Given the description of an element on the screen output the (x, y) to click on. 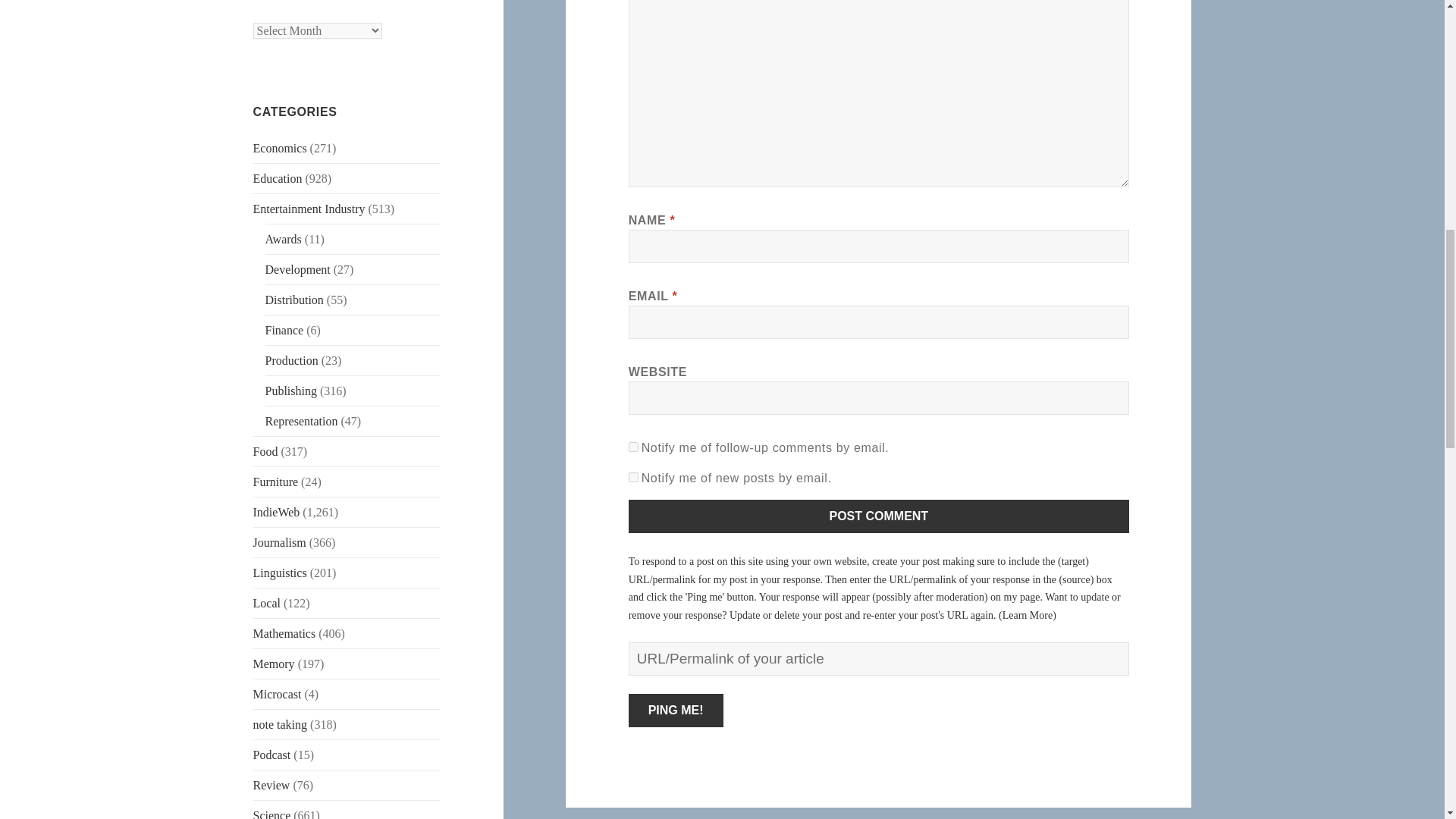
Ping me! (675, 710)
subscribe (633, 447)
Post Comment (878, 516)
subscribe (633, 477)
